Given the description of an element on the screen output the (x, y) to click on. 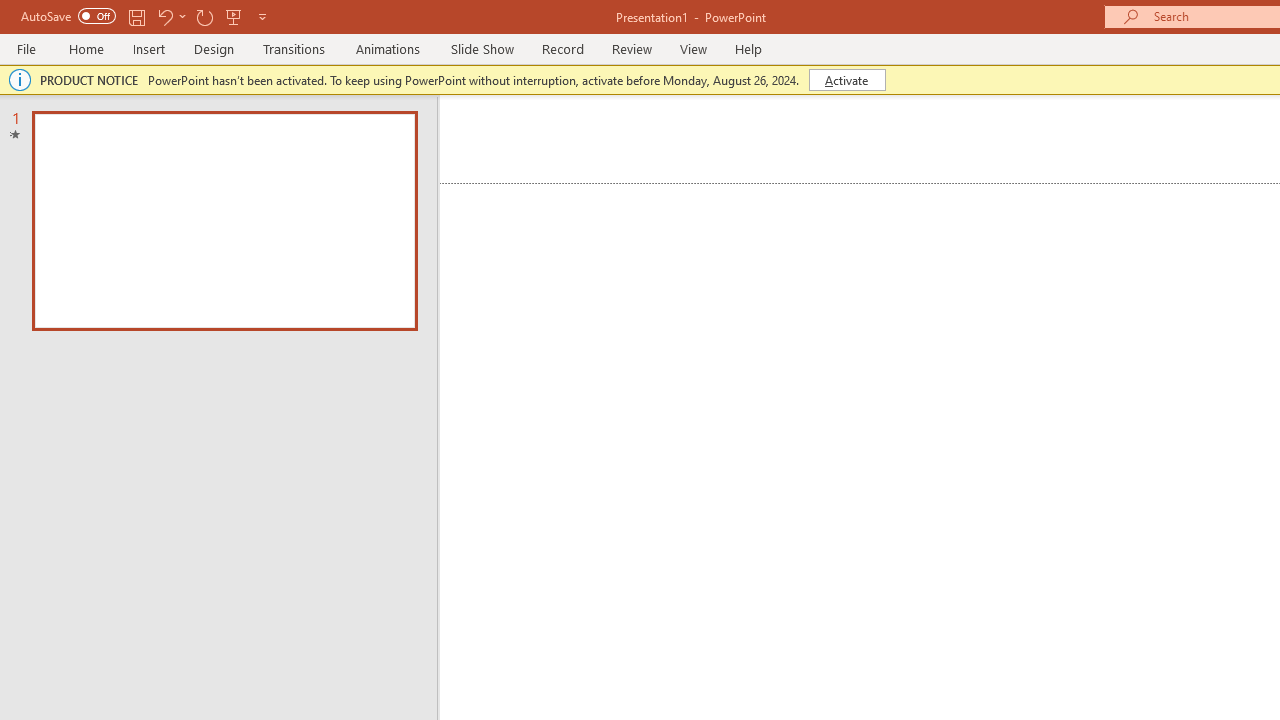
Left: (1150, 548)
Grow Font (430, 137)
Font... (675, 226)
Font Color RGB(255, 0, 0) (556, 180)
Text Effects and Typography (444, 180)
Font Color (567, 180)
RichEdit Control (1136, 582)
Alignment: (1189, 415)
Distributed (872, 180)
Help (1013, 84)
Undo Typing (280, 31)
